Given the description of an element on the screen output the (x, y) to click on. 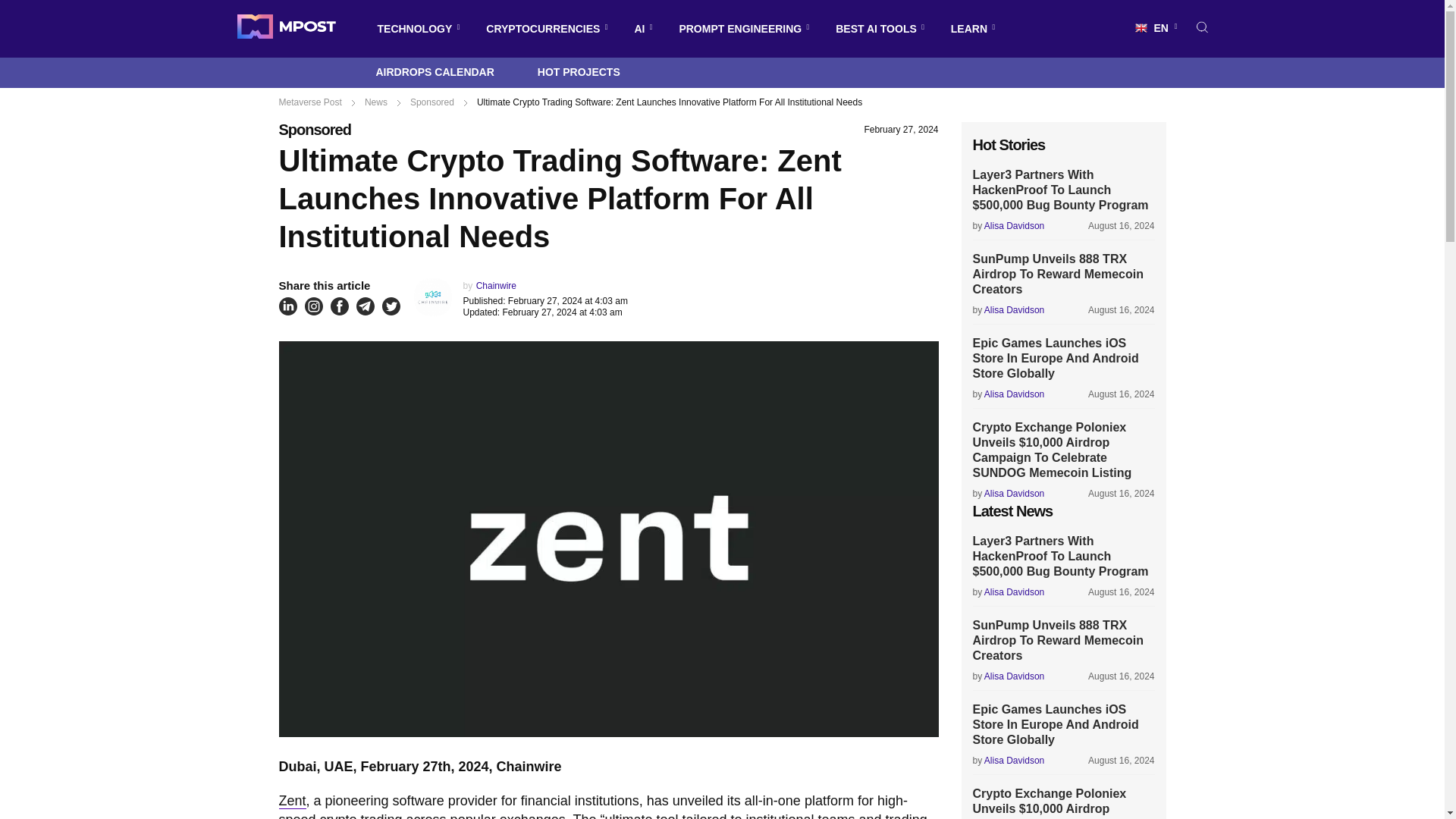
TECHNOLOGY (414, 29)
CRYPTOCURRENCIES (543, 29)
Metaverse Post (284, 28)
Posts by Chainwire (496, 285)
PROMPT ENGINEERING (740, 29)
